Given the description of an element on the screen output the (x, y) to click on. 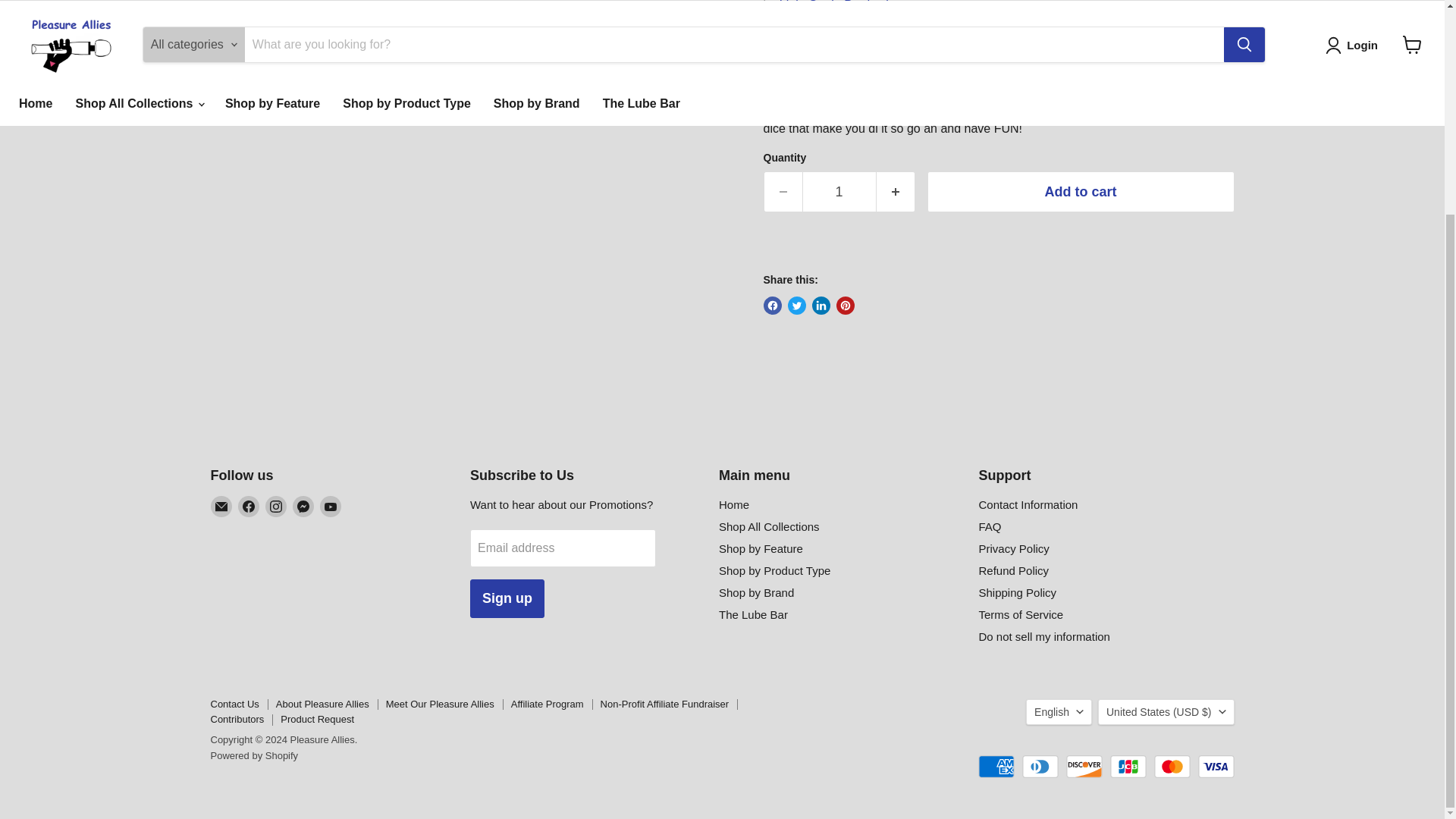
Email (221, 506)
Instagram (275, 506)
Facebook (248, 506)
Diners Club (1040, 766)
American Express (996, 766)
Little Genie Productions (843, 5)
1 (839, 191)
Messenger (303, 506)
Discover (1083, 766)
YouTube (330, 506)
